Given the description of an element on the screen output the (x, y) to click on. 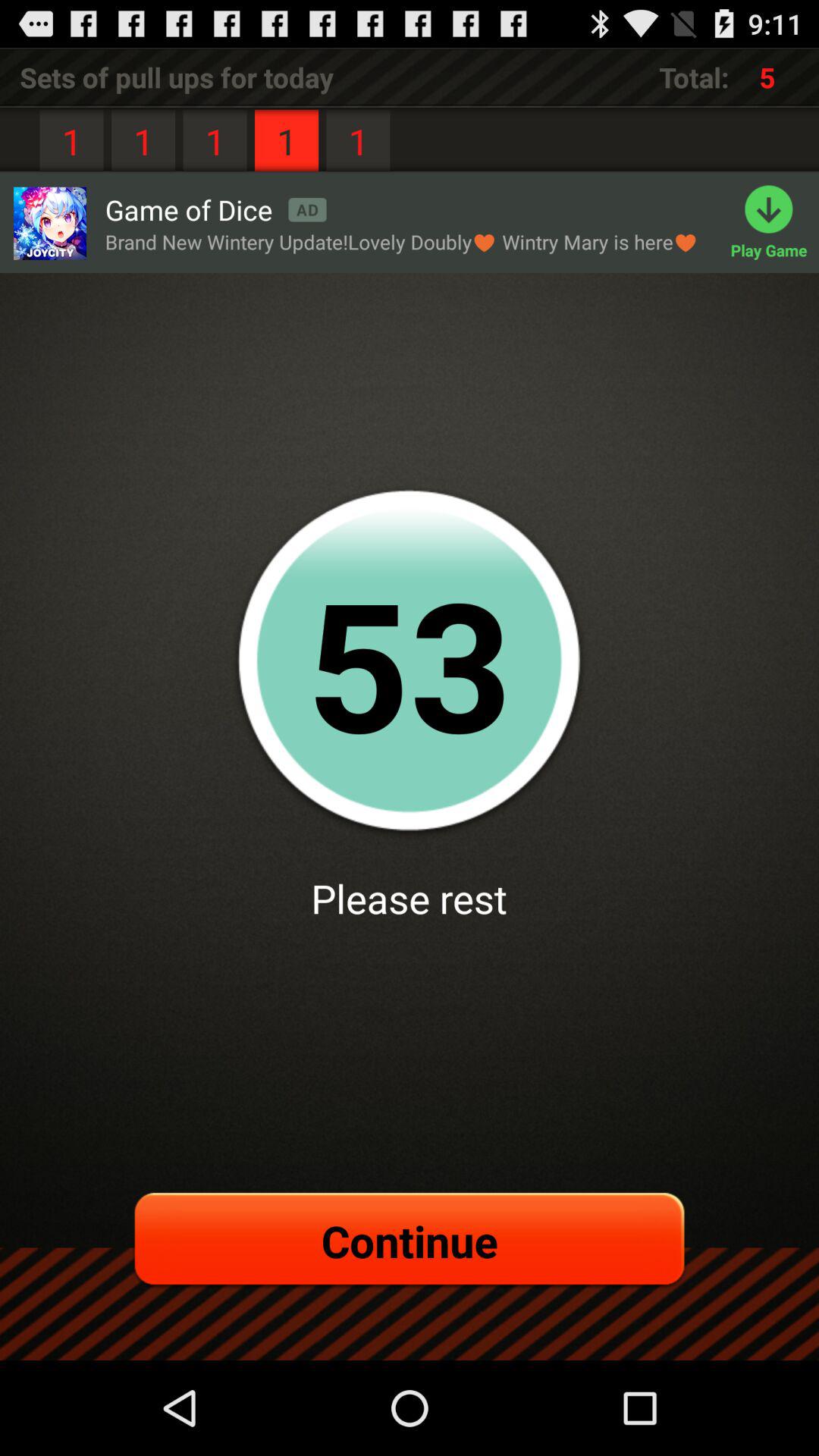
advertising link that go to a different app (49, 222)
